Given the description of an element on the screen output the (x, y) to click on. 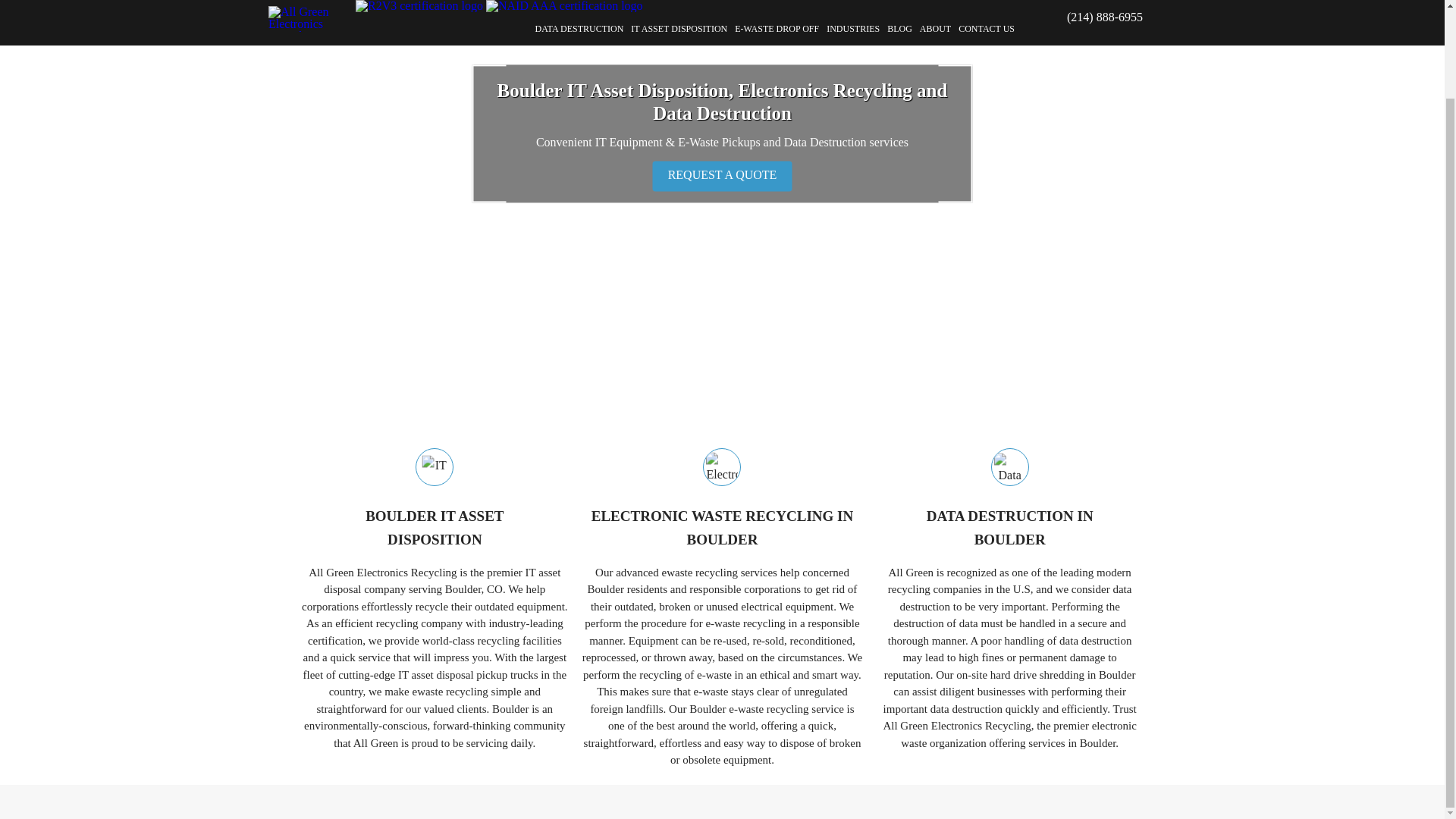
REQUEST A QUOTE (722, 528)
